Given the description of an element on the screen output the (x, y) to click on. 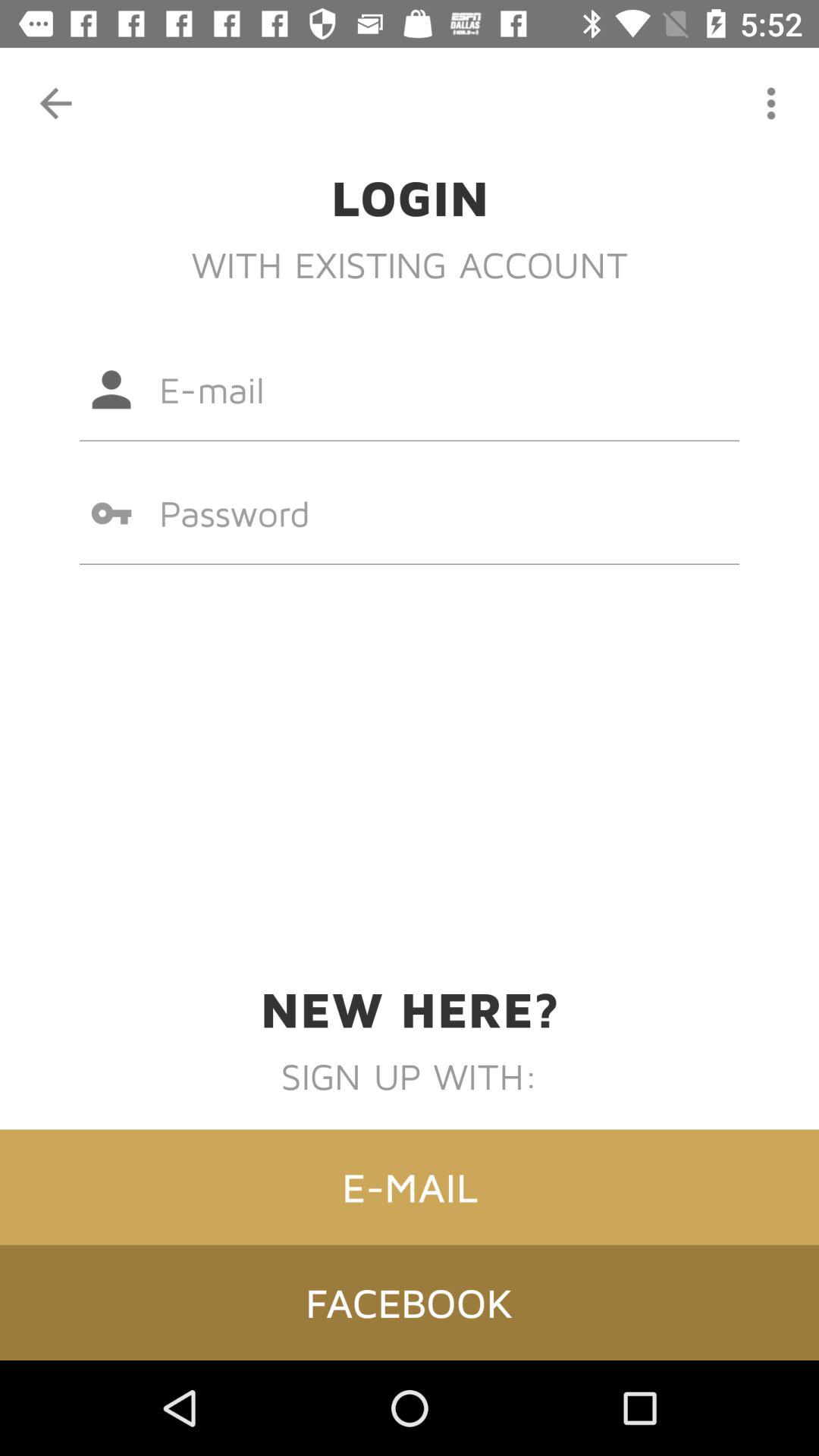
tap the icon above the login item (771, 103)
